Given the description of an element on the screen output the (x, y) to click on. 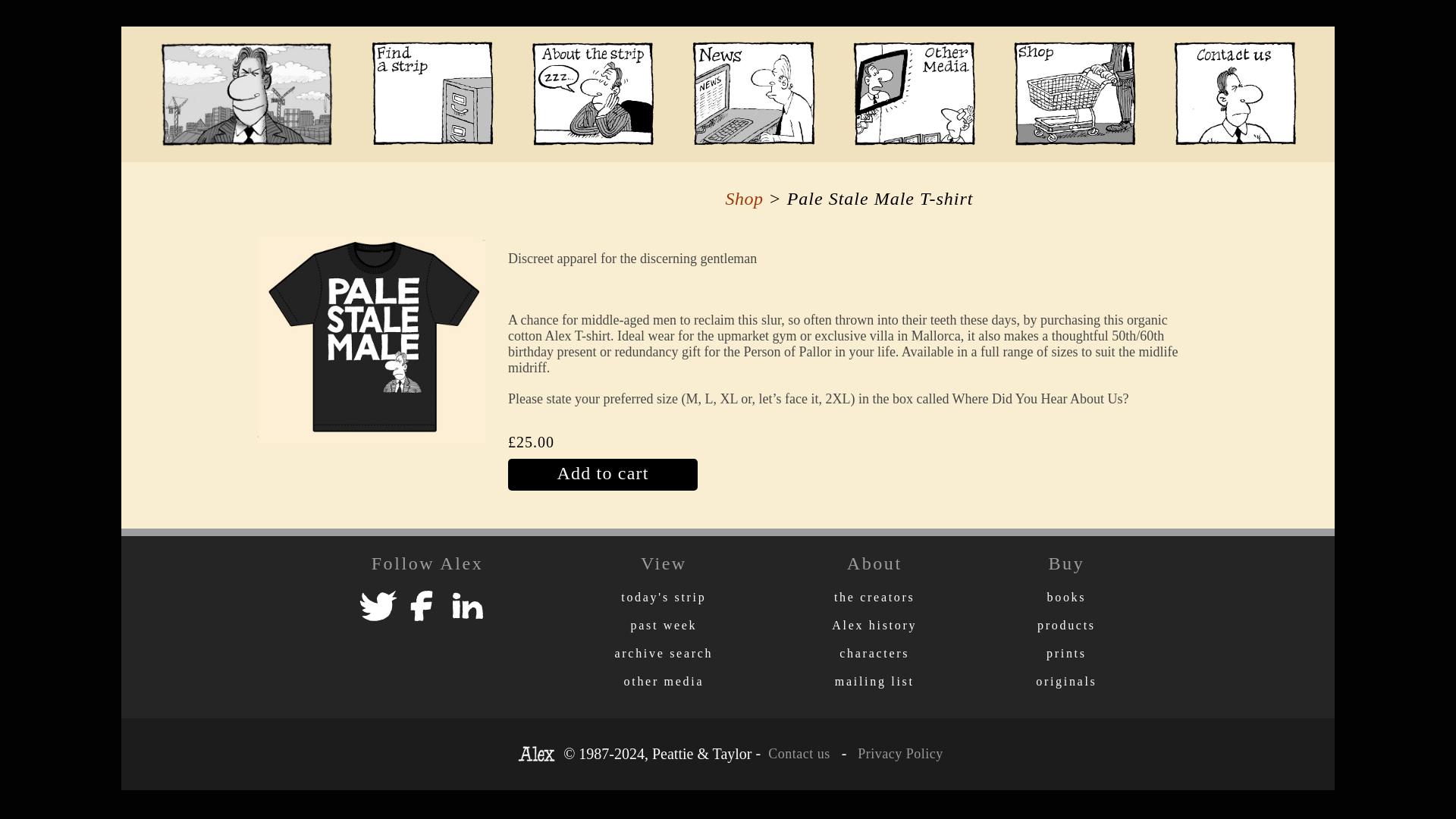
prints (1066, 653)
products (1066, 625)
Add to cart (849, 474)
archive search (663, 653)
Contact us (799, 753)
Shop (743, 198)
other media (664, 680)
Alex history (874, 625)
books (1066, 596)
Privacy Policy (894, 753)
originals (1065, 680)
characters (874, 653)
today's strip (663, 596)
the creators (874, 596)
mailing list (874, 680)
